Given the description of an element on the screen output the (x, y) to click on. 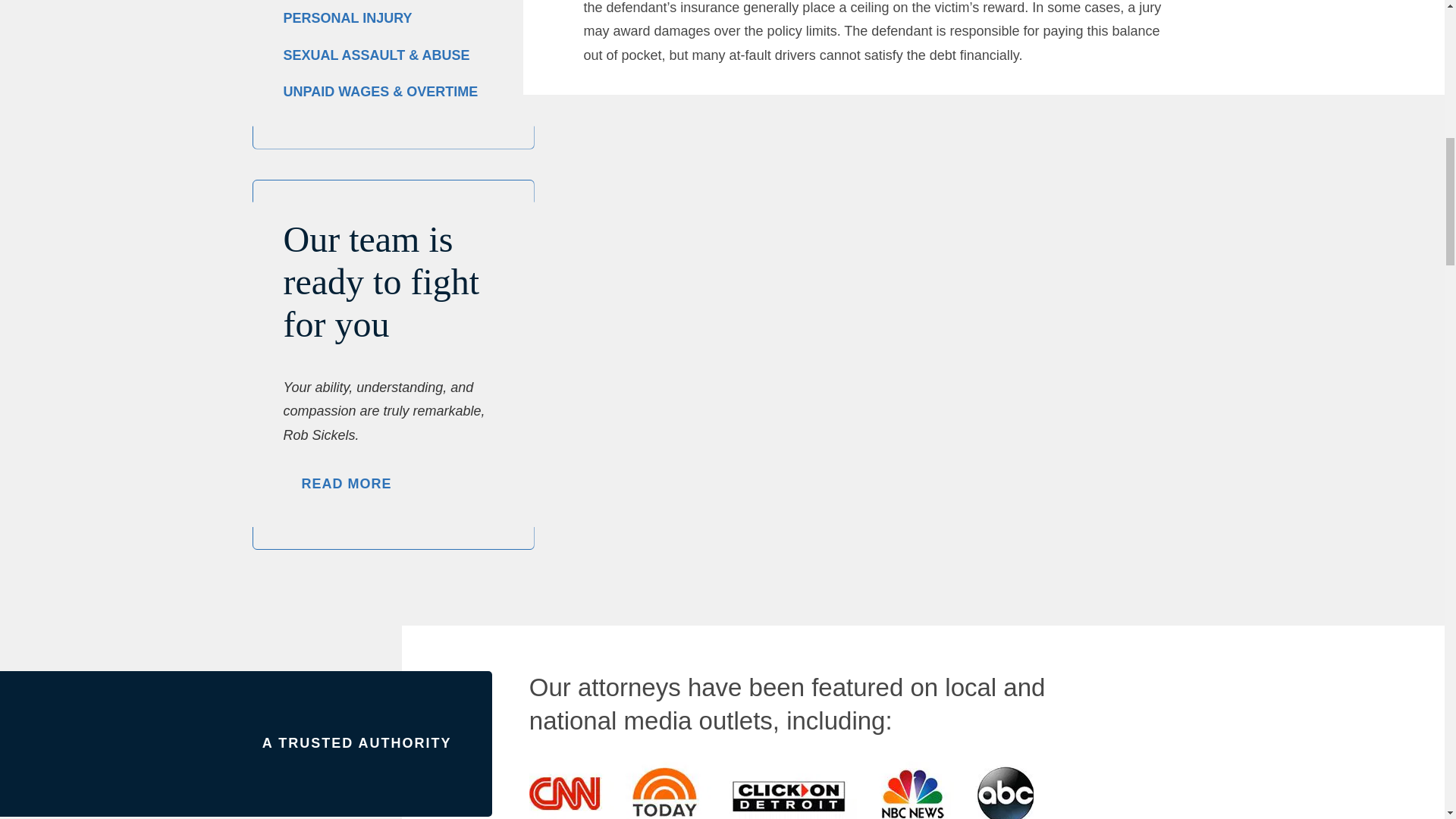
Click Here (346, 483)
sommers-media-compressor (781, 784)
